Given the description of an element on the screen output the (x, y) to click on. 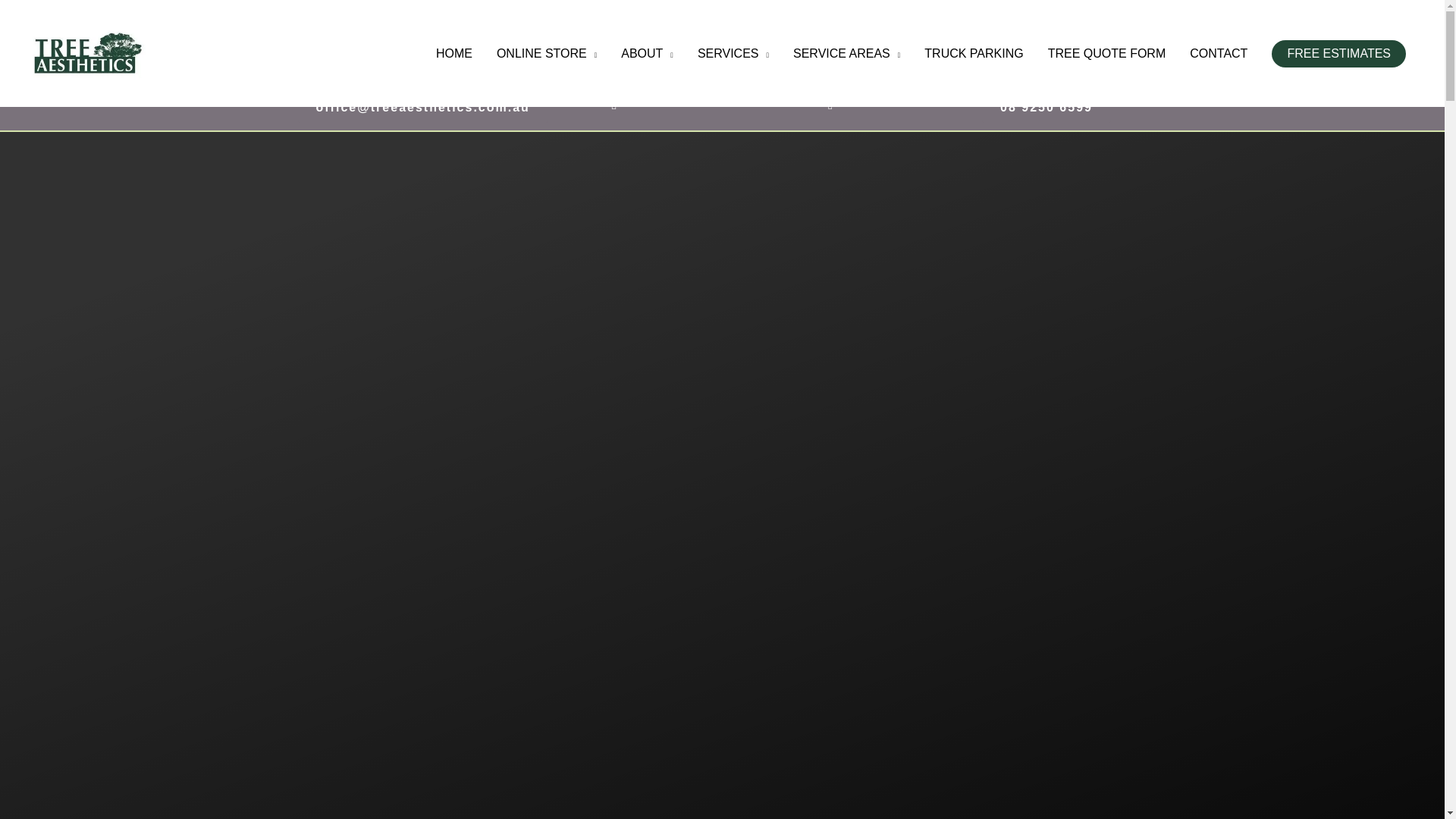
ABOUT (646, 53)
SERVICES (732, 53)
SERVICE AREAS (846, 53)
ONLINE STORE (546, 53)
HOME (453, 53)
